Given the description of an element on the screen output the (x, y) to click on. 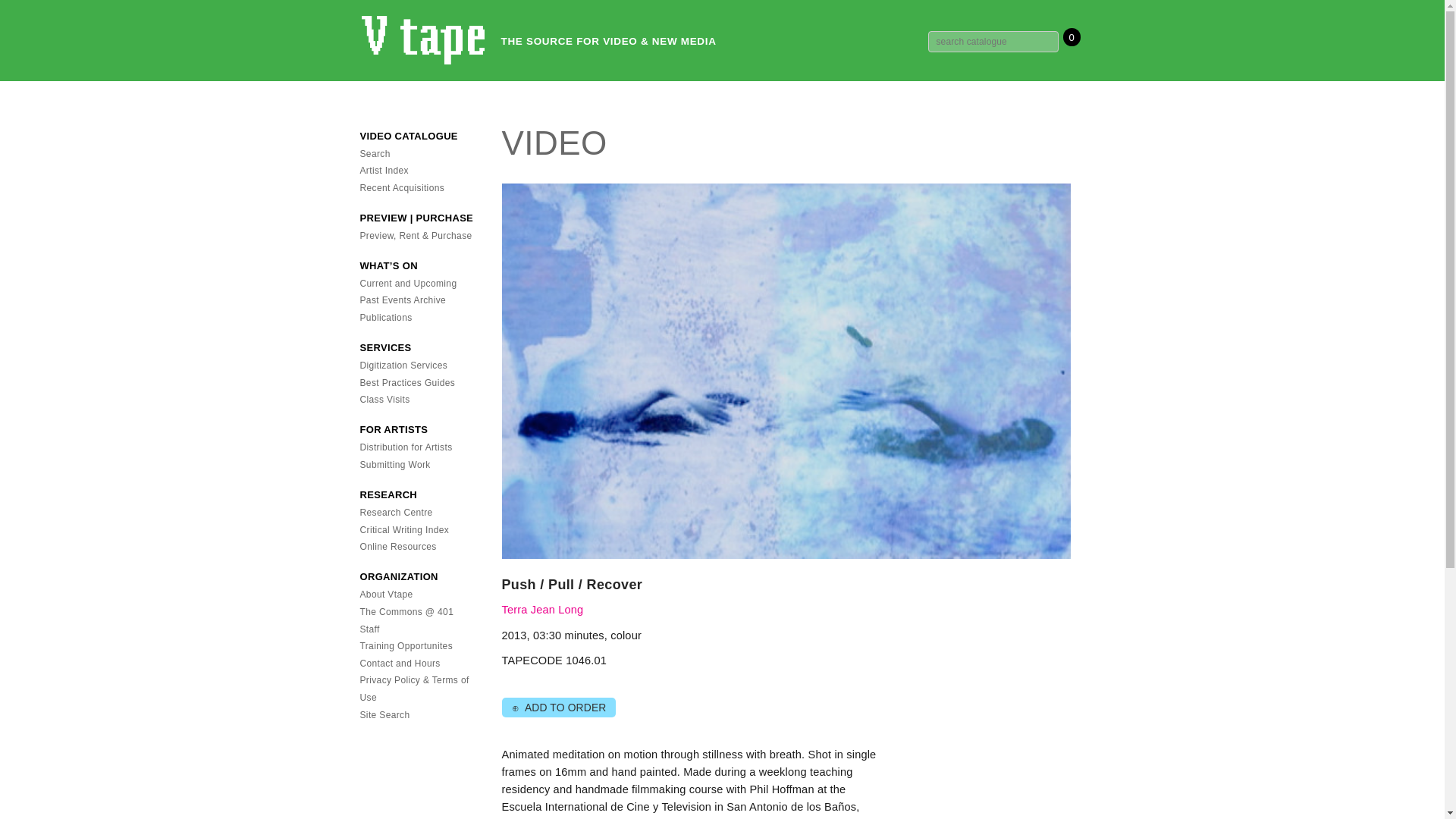
Search catalogue: (993, 41)
Add this title to your media request list. (558, 707)
Recent Acquisitions (401, 187)
Artist Index (383, 170)
Terra Jean Long (542, 609)
Critical Writing Index Search (403, 529)
Search (374, 153)
